Given the description of an element on the screen output the (x, y) to click on. 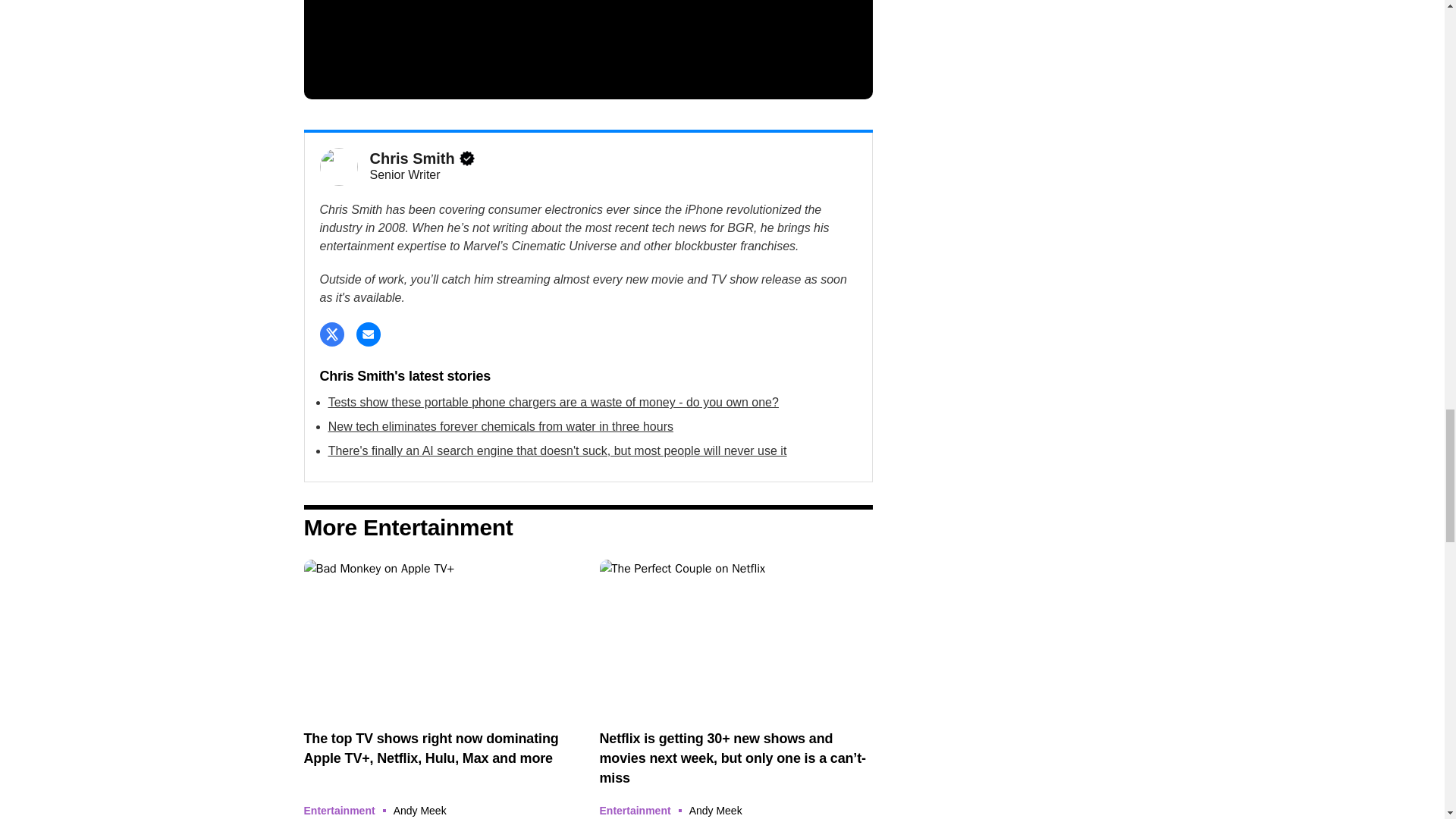
Posts by Andy Meek (419, 810)
TV shows (439, 636)
Posts by Andy Meek (715, 810)
Netflix (735, 636)
